Given the description of an element on the screen output the (x, y) to click on. 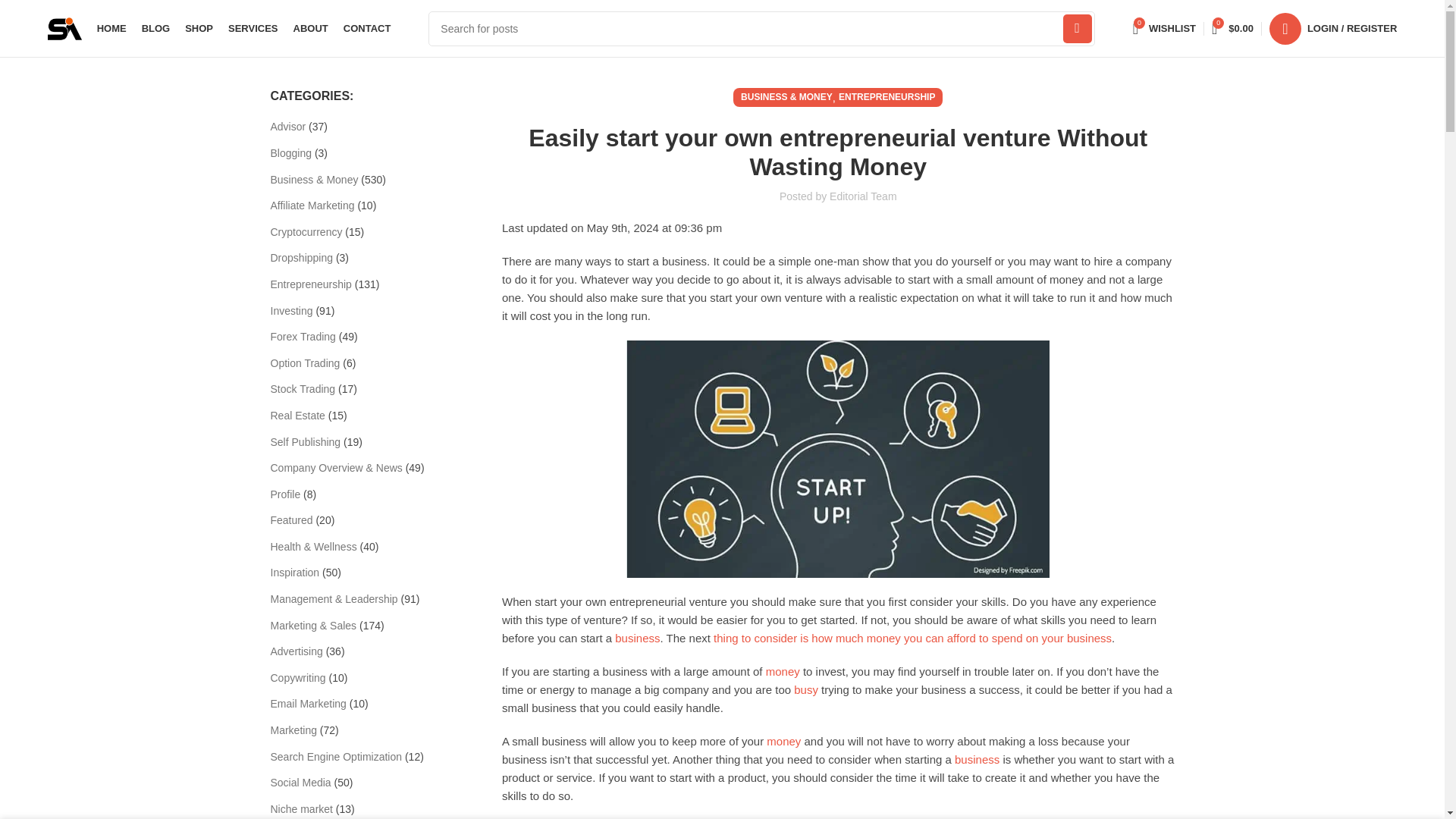
SEARCH (1164, 28)
money (1077, 27)
Shopping cart (782, 671)
HOME (1232, 28)
CONTACT (111, 28)
busy (367, 28)
BLOG (805, 689)
10 Amazing Business Principles For Entrepreneurship (155, 28)
business (976, 758)
My account (976, 758)
